Given the description of an element on the screen output the (x, y) to click on. 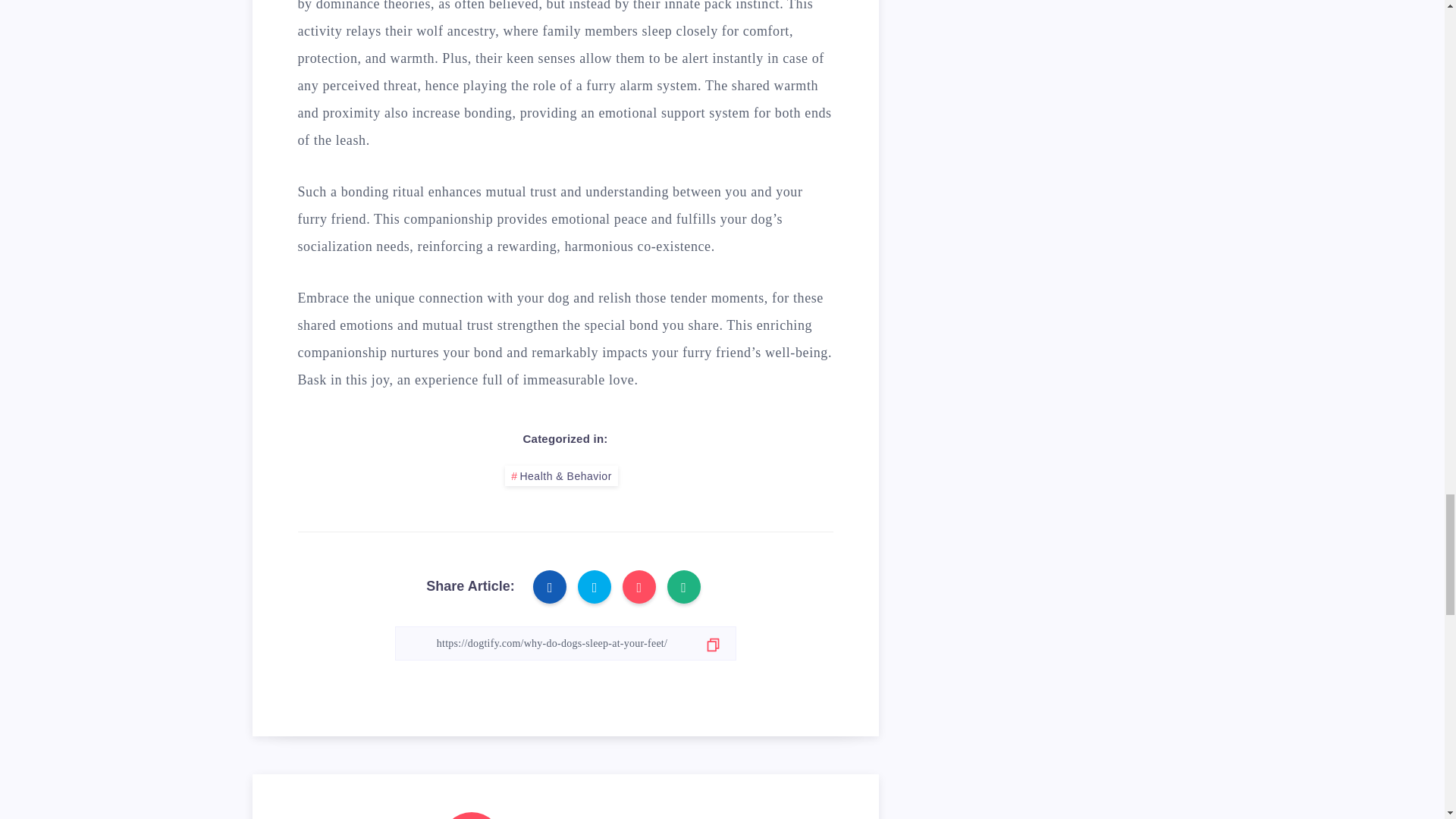
M (471, 815)
Author: Melissa Benson (471, 815)
